Given the description of an element on the screen output the (x, y) to click on. 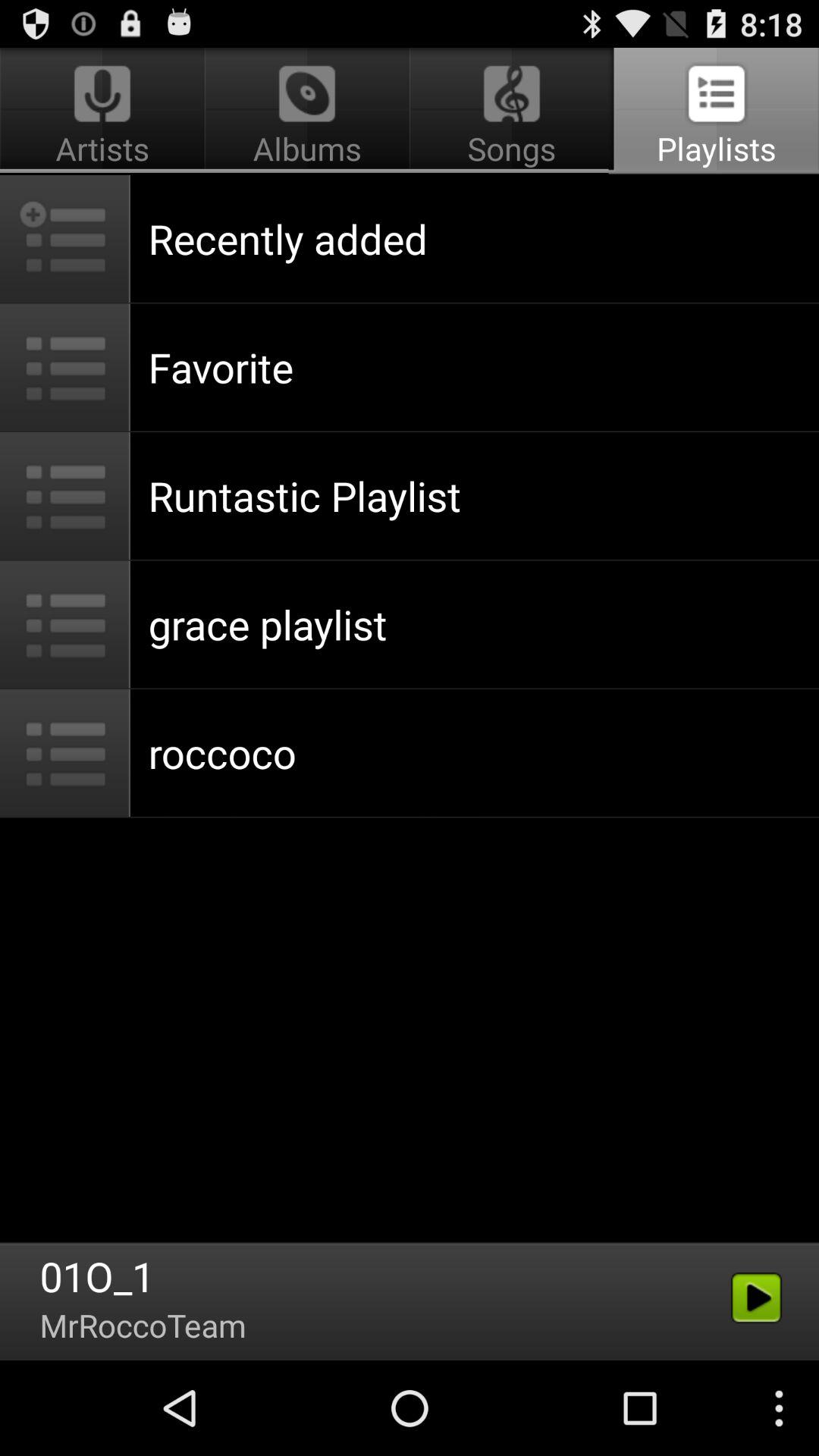
press app next to the playlists (307, 111)
